Given the description of an element on the screen output the (x, y) to click on. 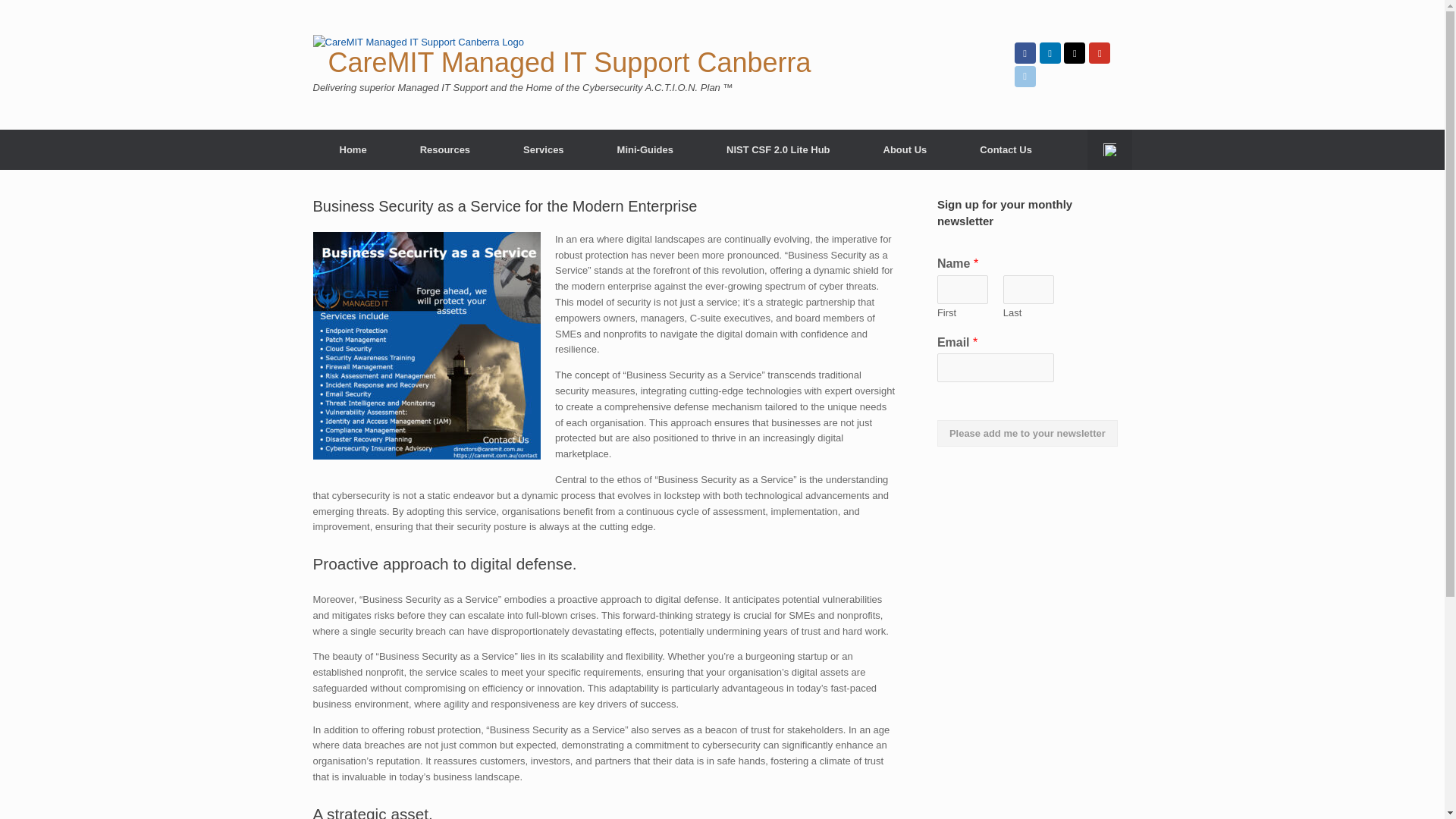
Services (543, 149)
Resources (444, 149)
CareMIT Managed IT Support Canberra on X Twitter (1074, 52)
About Us (905, 149)
NIST CSF 2.0 Lite Hub (778, 149)
CareMIT Managed IT Support Canberra (653, 55)
Mini-Guides (645, 149)
Email (1024, 76)
CareMIT Managed IT Support Canberra on Facebook (1024, 52)
CareMIT Managed IT Support Canberra (653, 55)
